Given the description of an element on the screen output the (x, y) to click on. 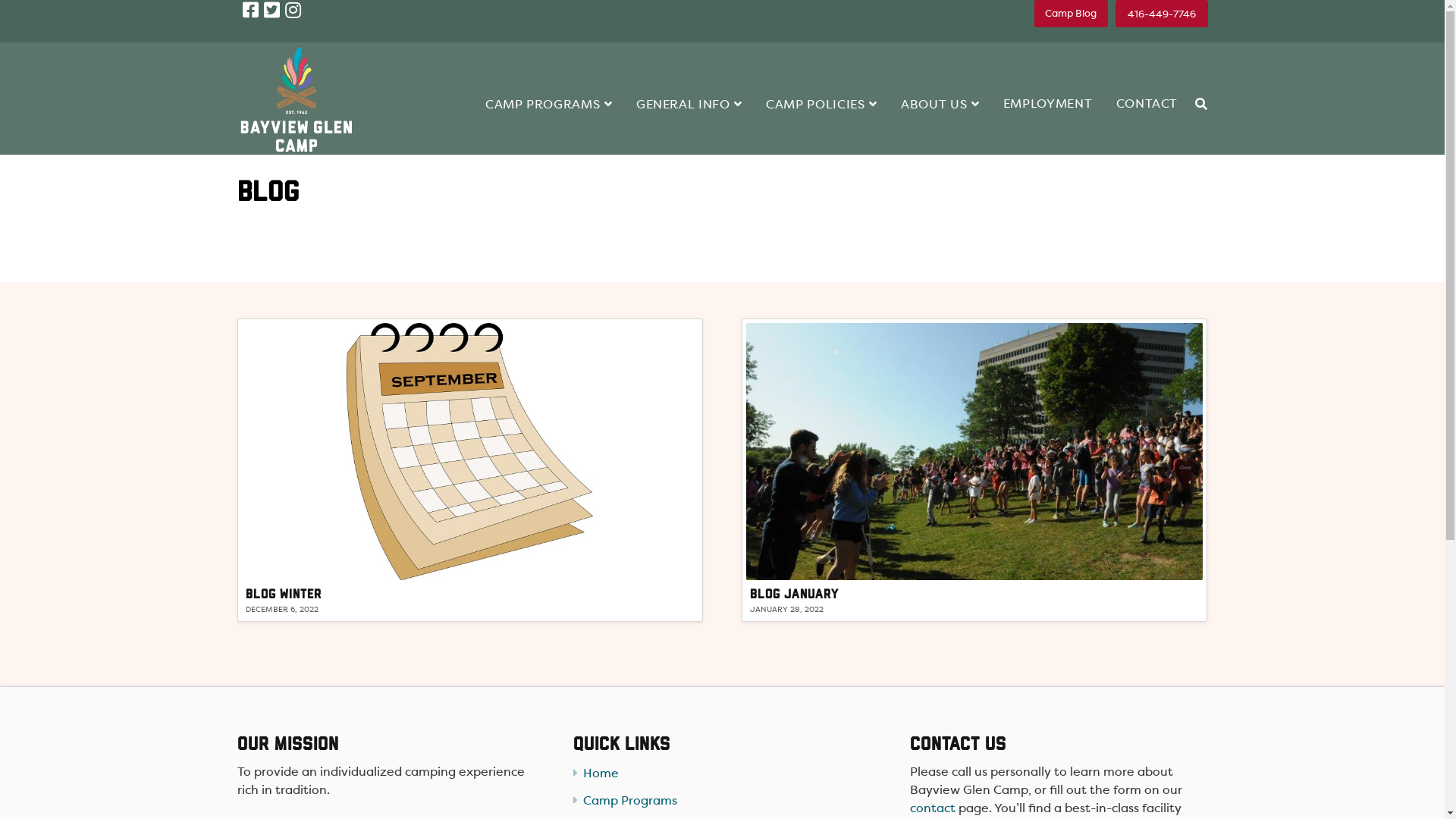
Blog Winter
DECEMBER 6, 2022 Element type: text (469, 469)
Facebook Element type: hover (250, 9)
Home Element type: text (722, 772)
CAMP PROGRAMS Element type: text (548, 76)
Instagram Element type: hover (293, 9)
Blog January
JANUARY 28, 2022 Element type: text (974, 469)
416-449-7746 Element type: text (1161, 13)
EMPLOYMENT Element type: text (1047, 76)
GENERAL INFO Element type: text (688, 76)
Twitter Element type: hover (271, 9)
CONTACT Element type: text (1146, 76)
CAMP POLICIES Element type: text (820, 76)
Camp Programs Element type: text (722, 800)
contact Element type: text (932, 807)
Camp Blog Element type: text (1071, 13)
ABOUT US Element type: text (939, 76)
